Given the description of an element on the screen output the (x, y) to click on. 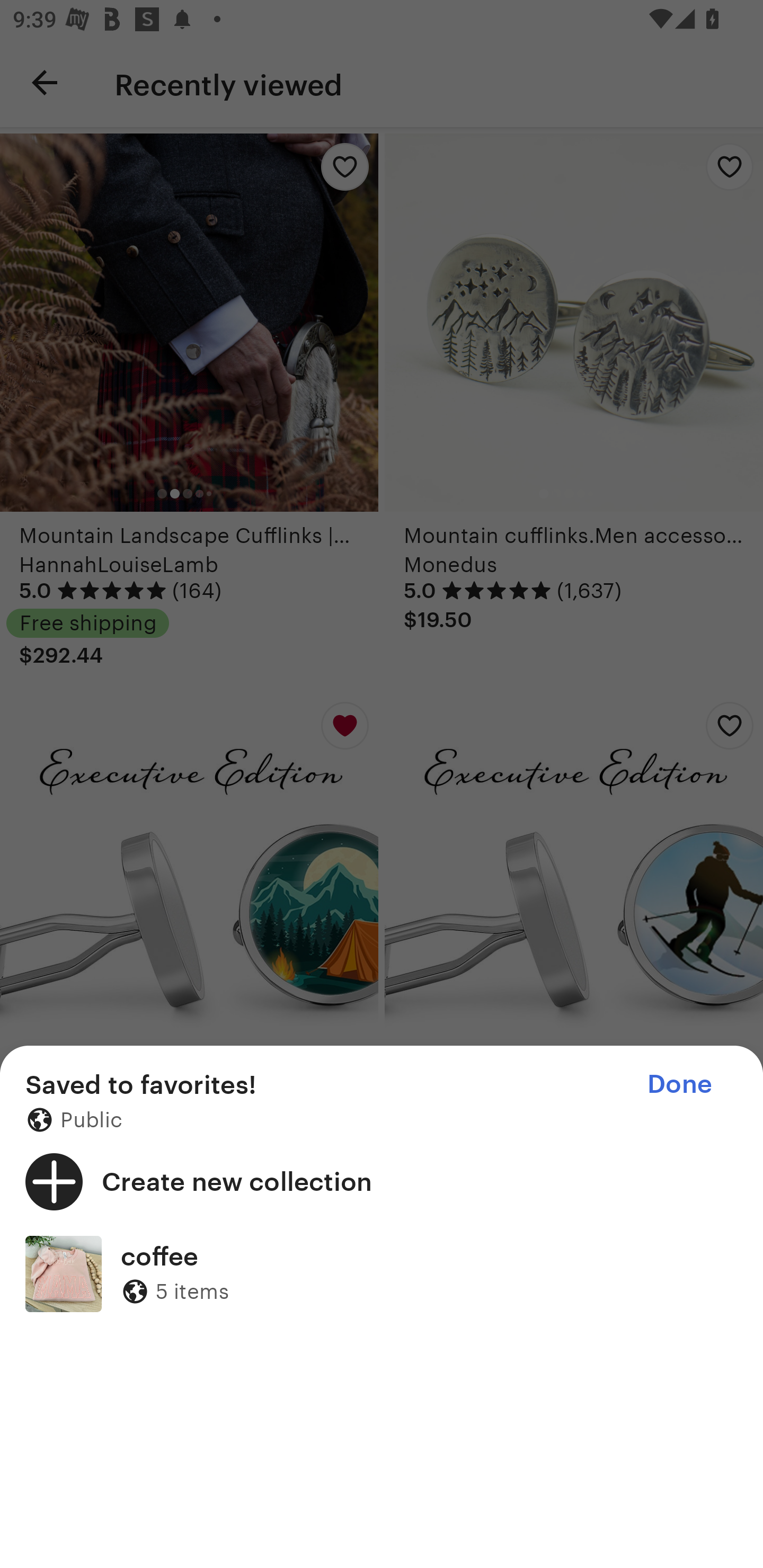
Done (679, 1083)
Create new collection (381, 1181)
coffee 5 items (381, 1273)
